Given the description of an element on the screen output the (x, y) to click on. 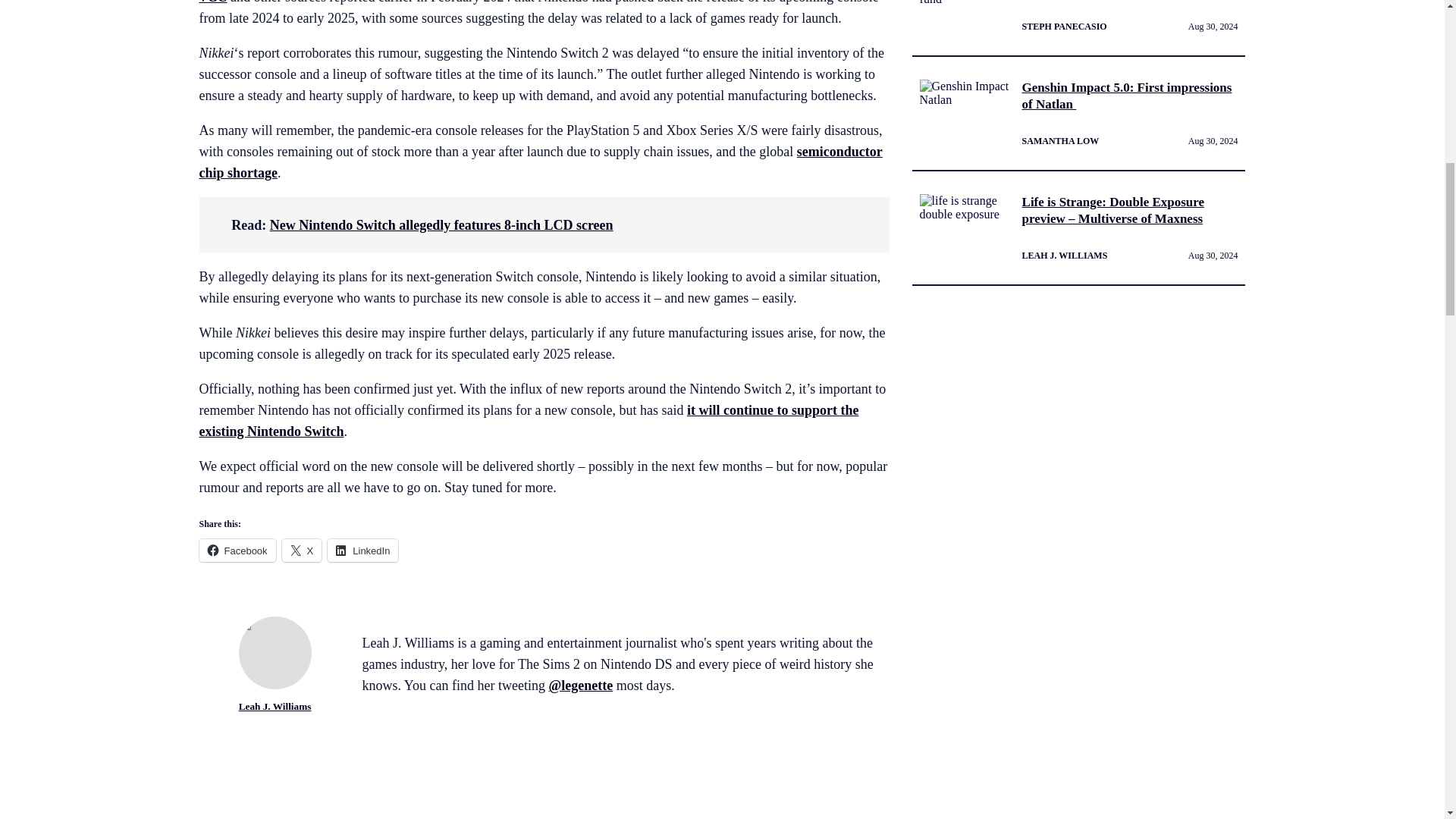
Click to share on Facebook (236, 549)
Click to share on X (301, 549)
Click to share on LinkedIn (362, 549)
